Given the description of an element on the screen output the (x, y) to click on. 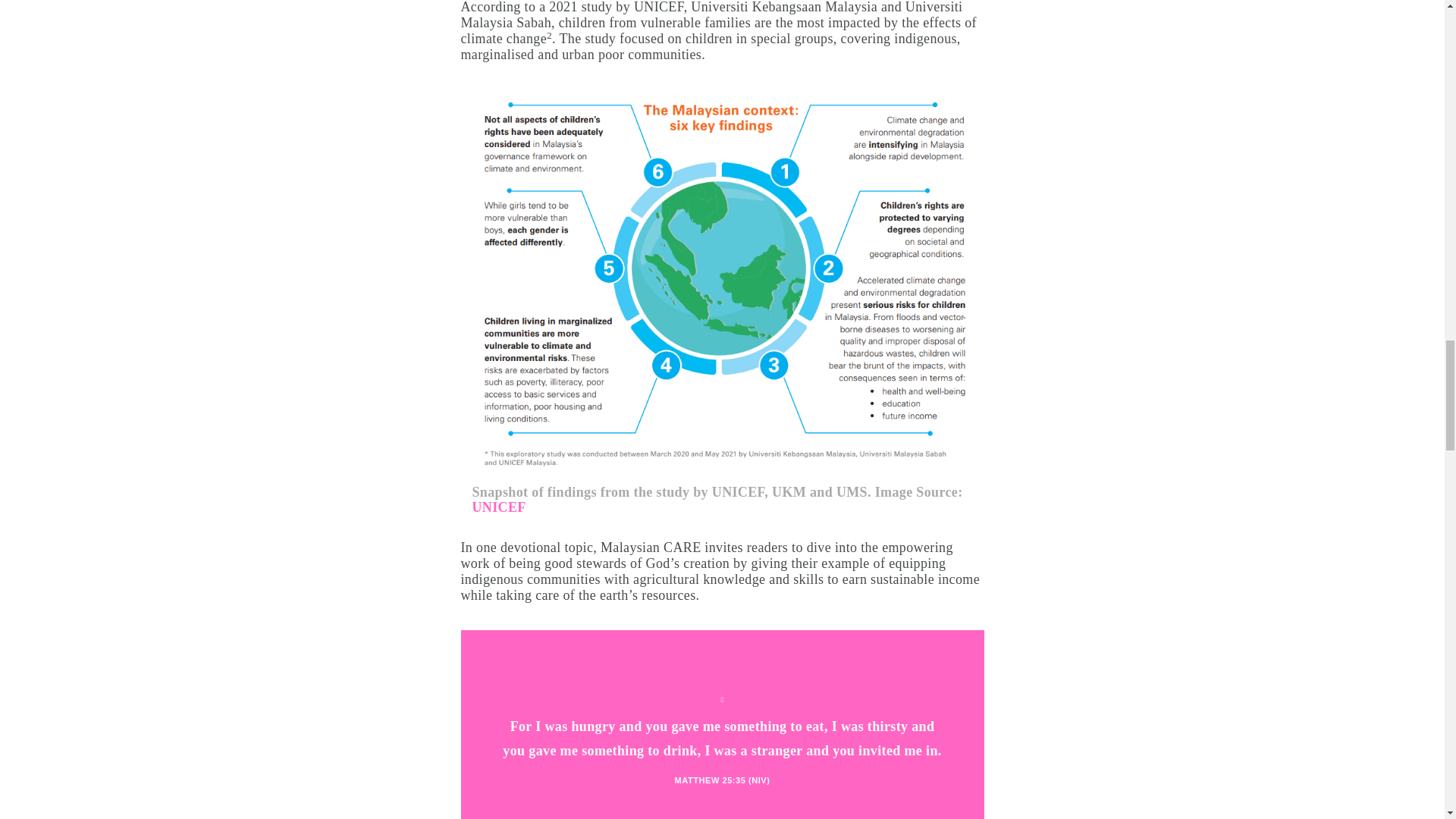
UNICEF (498, 507)
